Given the description of an element on the screen output the (x, y) to click on. 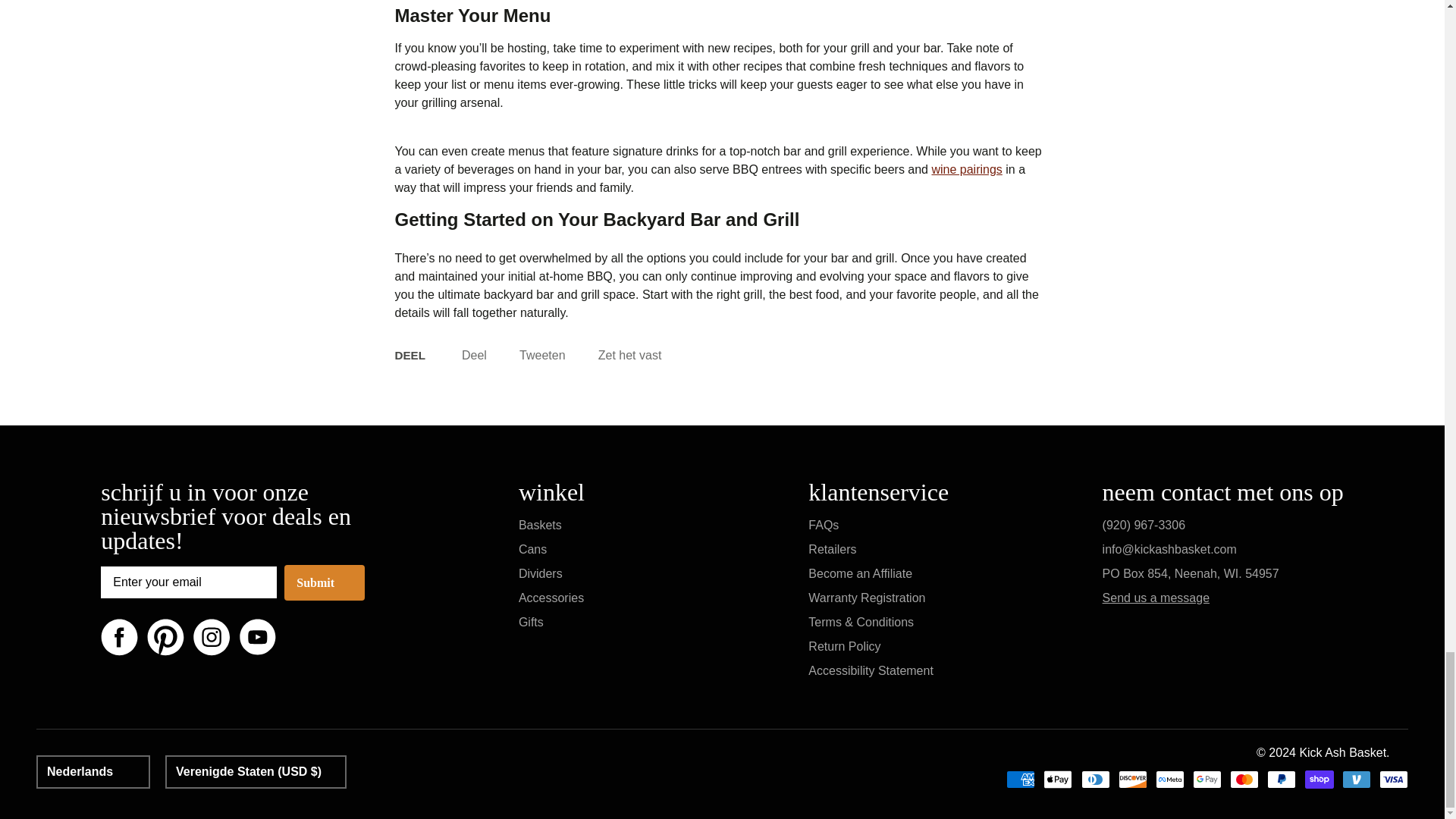
Newsletter Signup Form (188, 582)
